Given the description of an element on the screen output the (x, y) to click on. 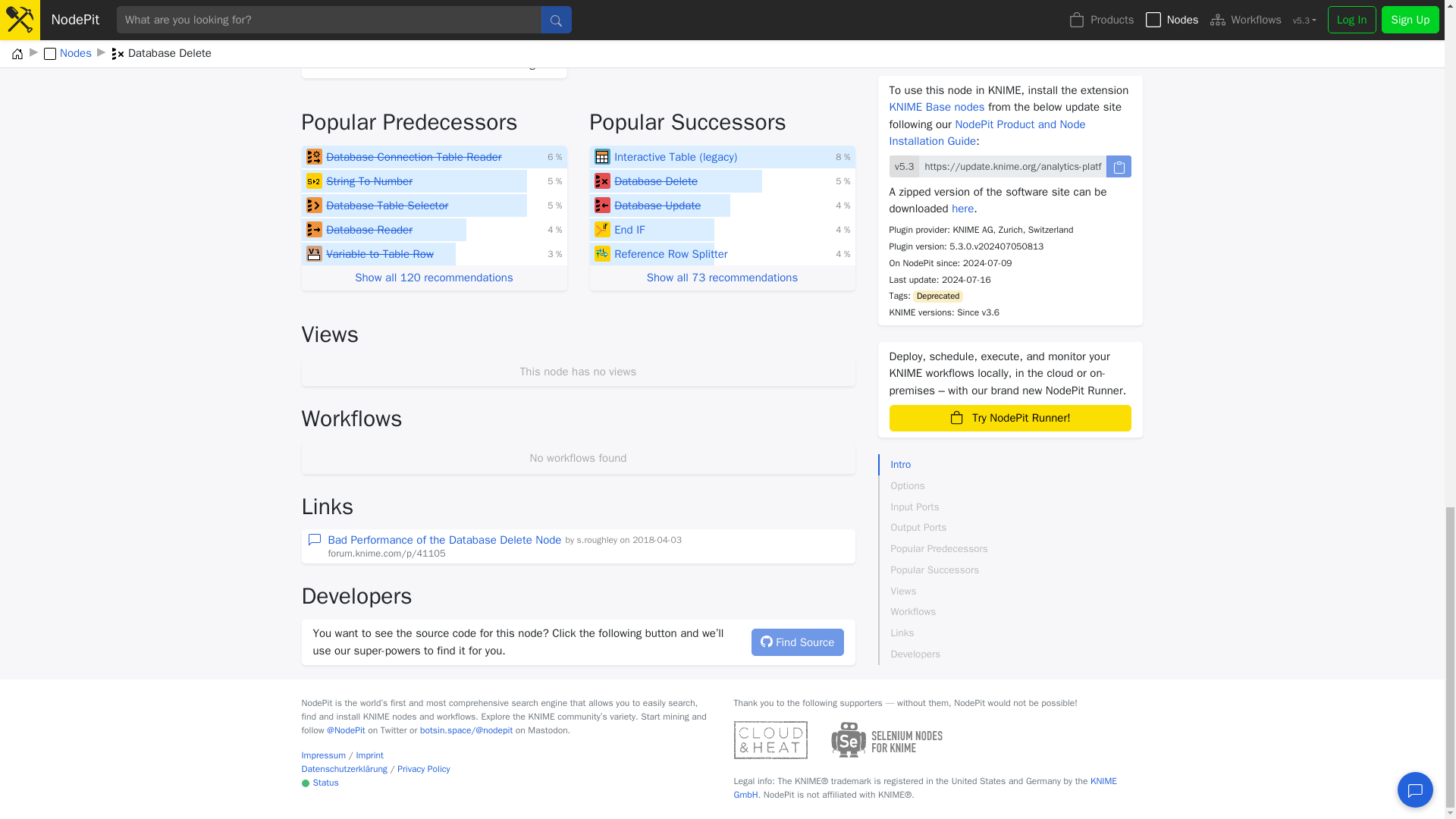
Absolute count: 17 x (842, 156)
Other (314, 253)
Visualizer (602, 156)
Source (314, 205)
Absolute count: 22 x (554, 181)
Manipulator (314, 180)
Source (314, 229)
Absolute count: 11 x (842, 181)
Absolute count: 26 x (554, 156)
Optional port 1: Database connection (318, 29)
Absolute count: 15 x (554, 254)
Absolute count: 22 x (554, 205)
Source (314, 156)
Absolute count: 16 x (554, 229)
Sink (602, 180)
